Given the description of an element on the screen output the (x, y) to click on. 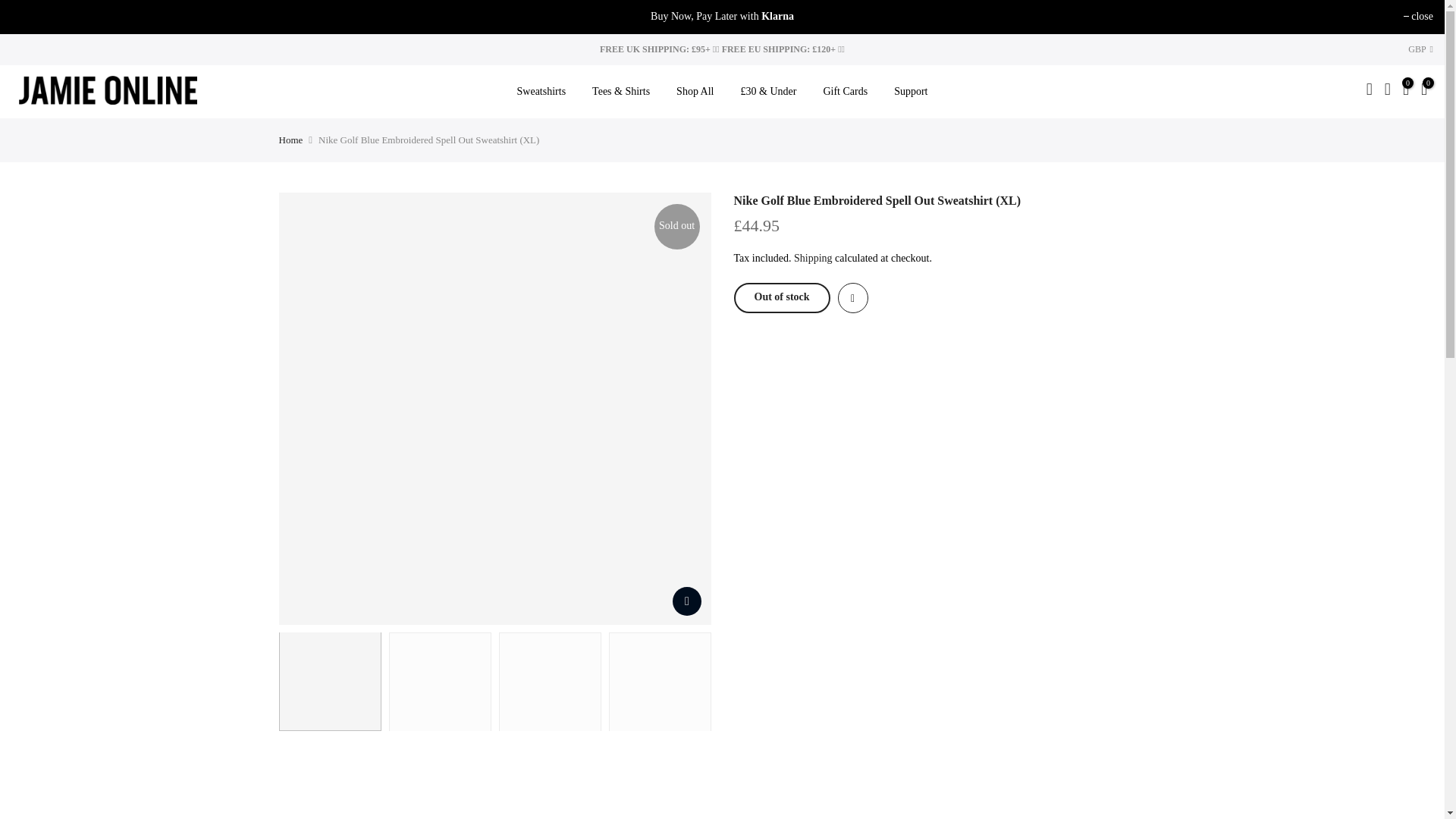
close (1417, 16)
